Given the description of an element on the screen output the (x, y) to click on. 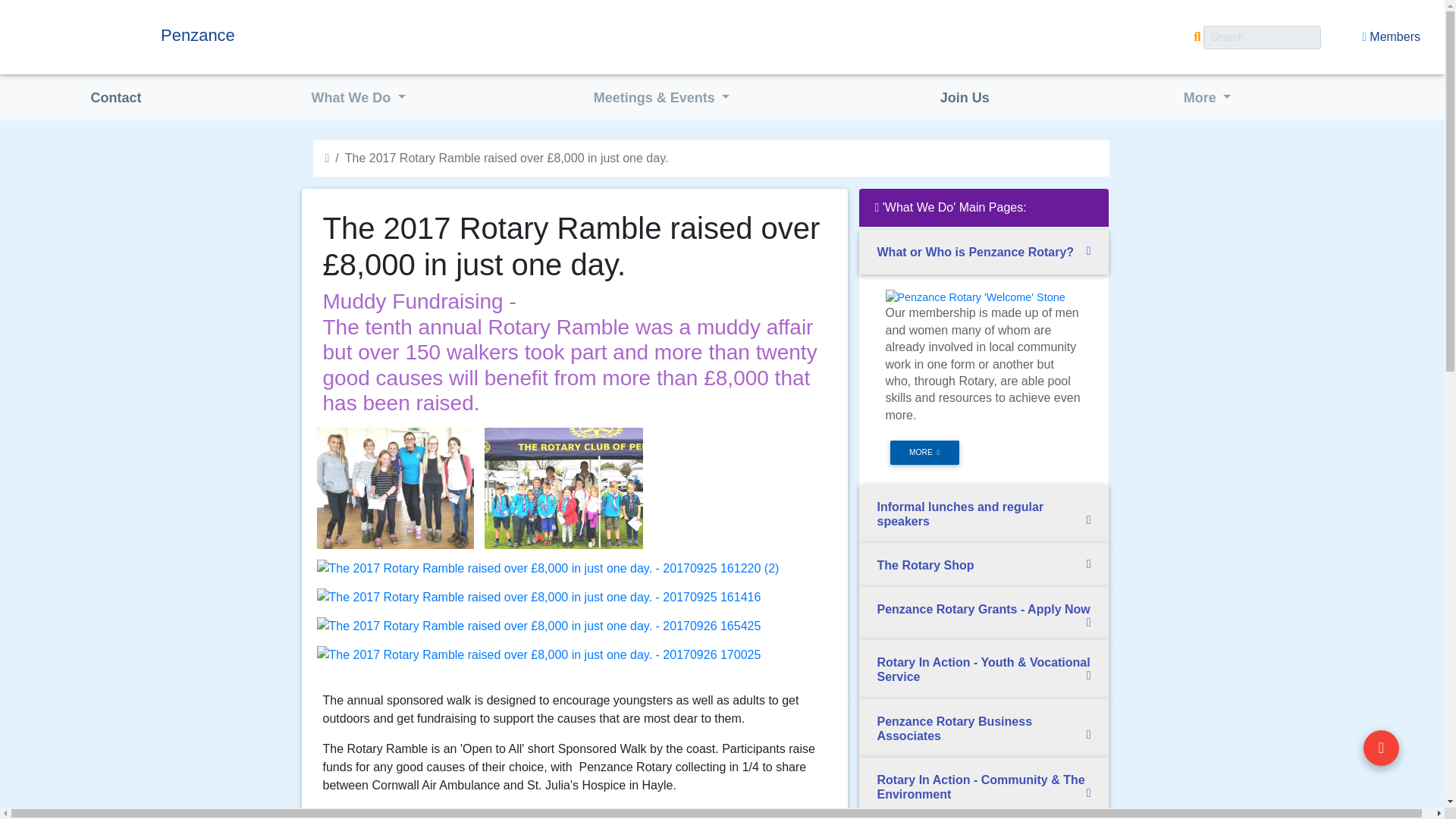
Contact (115, 97)
Members (1390, 37)
What We Do (358, 97)
Penzance (299, 35)
